Given the description of an element on the screen output the (x, y) to click on. 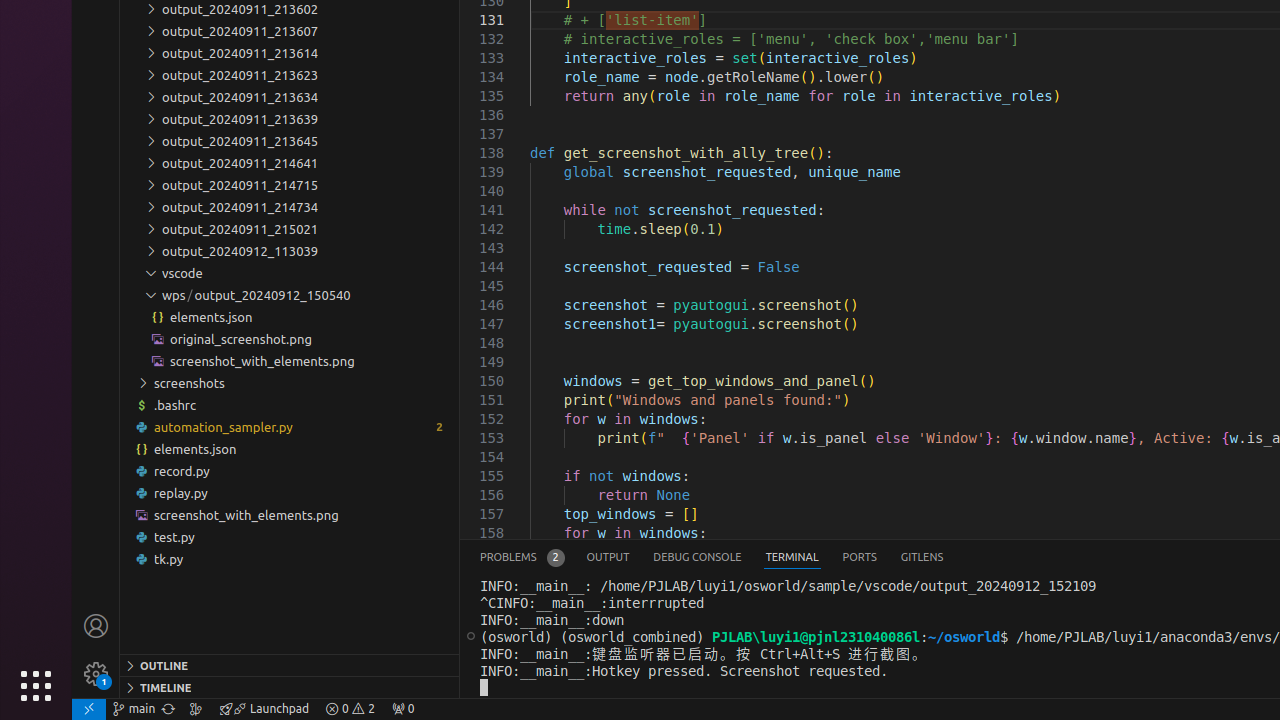
OSWorld (Git) - main, Checkout Branch/Tag... Element type: push-button (134, 709)
output_20240911_213645 Element type: tree-item (289, 141)
automation_sampler.py Element type: tree-item (289, 426)
Outline Section Element type: push-button (289, 665)
GitLens Element type: page-tab (922, 557)
